Given the description of an element on the screen output the (x, y) to click on. 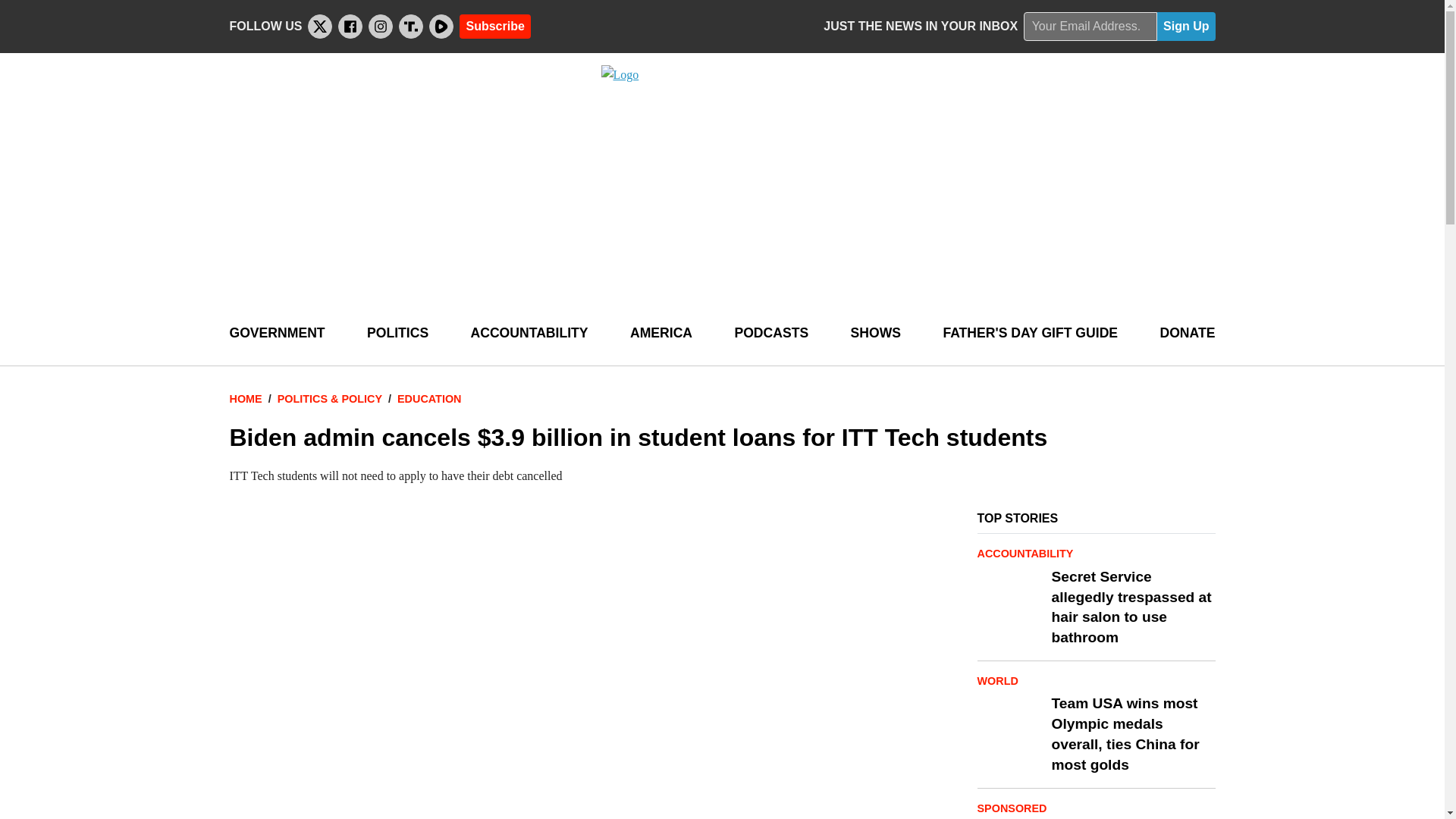
AMERICA (661, 333)
FATHER'S DAY GIFT GUIDE (1030, 333)
Subscribe (494, 26)
GOVERNMENT (276, 333)
SHOWS (875, 333)
POLITICS (397, 333)
PODCASTS (770, 333)
Sign Up (1185, 26)
Sign Up (1185, 26)
